Given the description of an element on the screen output the (x, y) to click on. 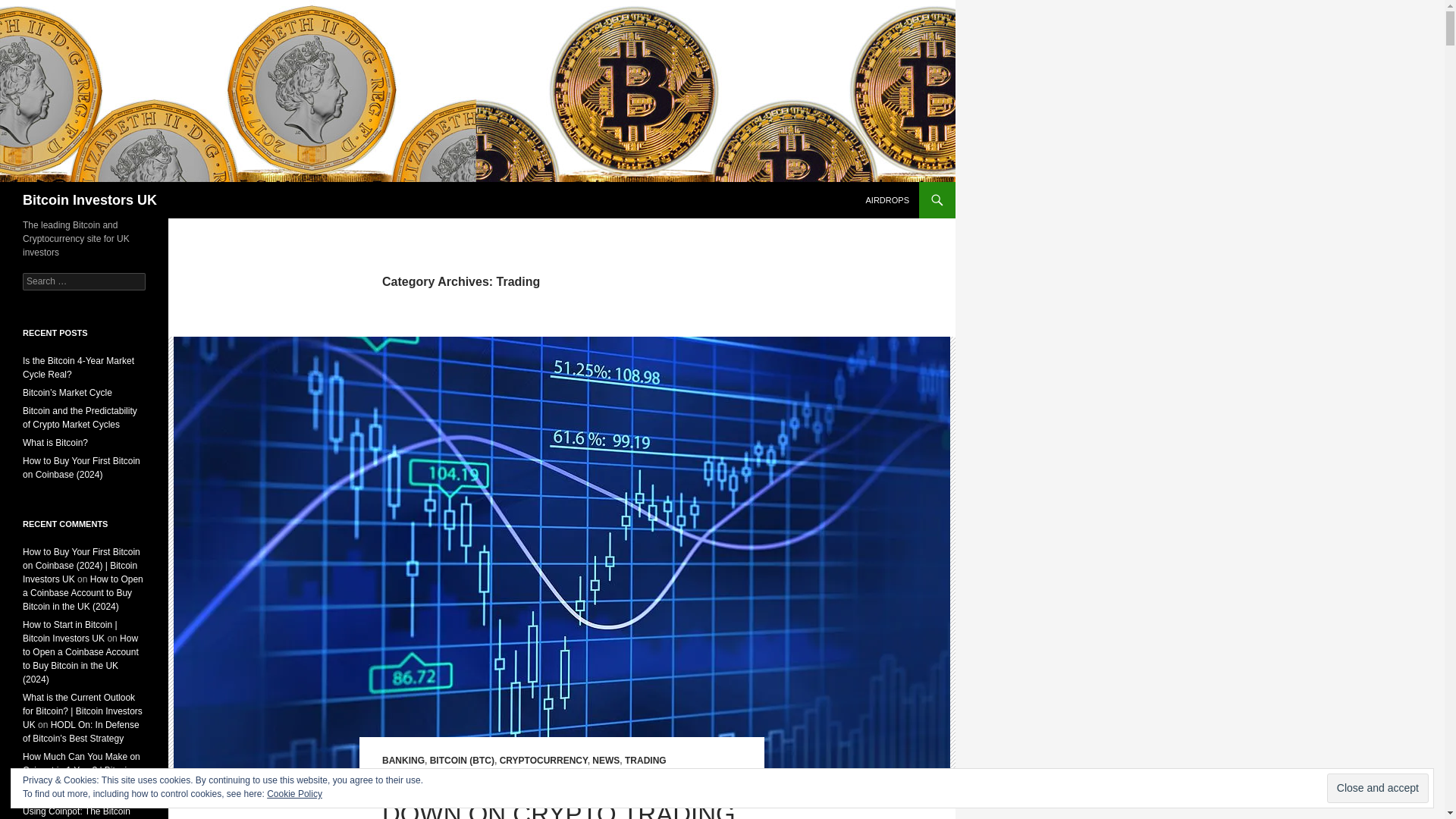
NEWS (606, 760)
BANKING (403, 760)
TRADING (645, 760)
AIRDROPS (887, 199)
CRYPTOCURRENCY (543, 760)
Bitcoin Investors UK (90, 199)
Close and accept (1377, 788)
